Given the description of an element on the screen output the (x, y) to click on. 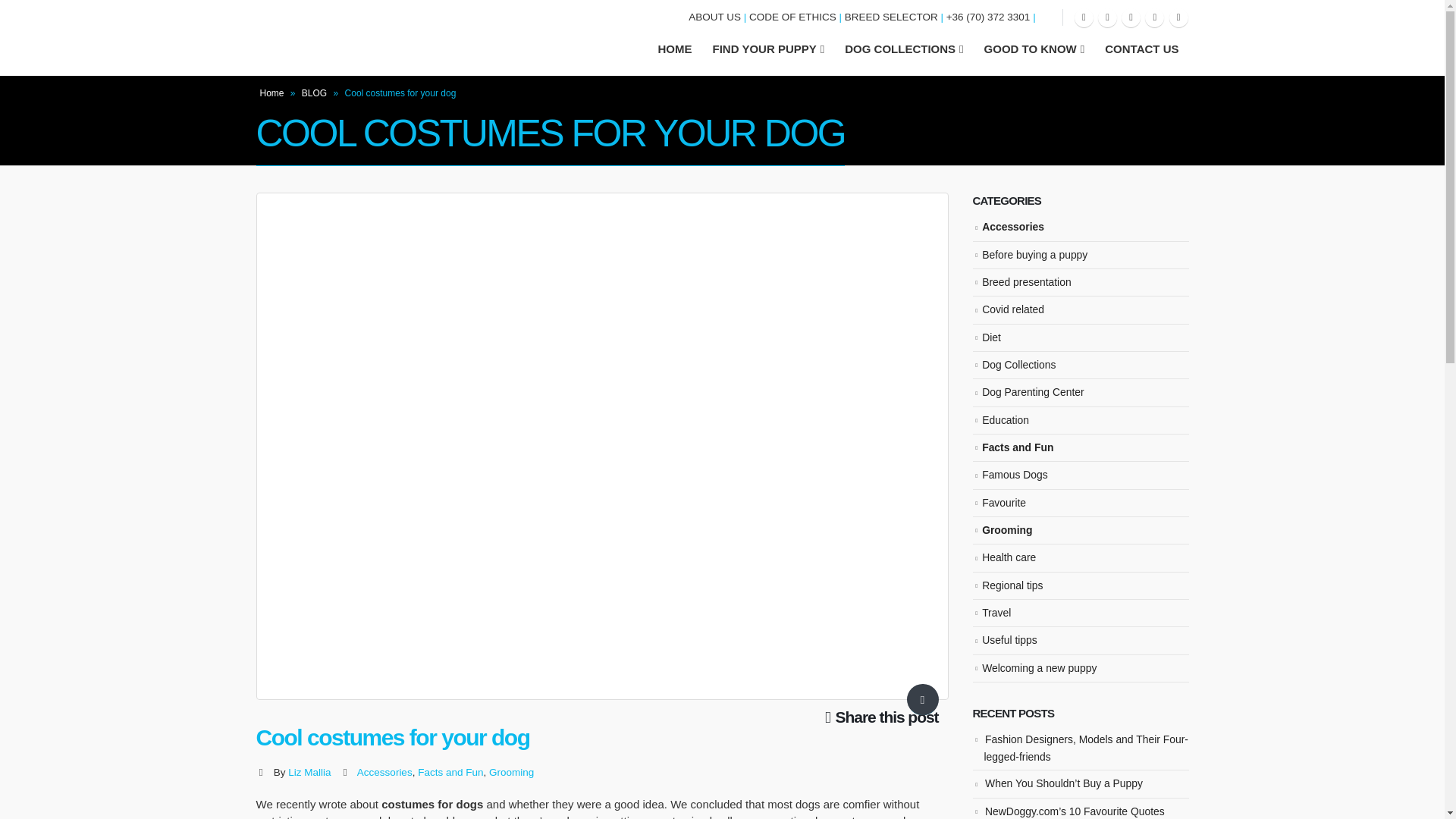
Facebook (1083, 16)
FIND YOUR PUPPY (767, 48)
CODE OF ETHICS (792, 16)
ABOUT US (714, 16)
BREED SELECTOR (890, 16)
HOME (674, 48)
Pinterest (1106, 16)
Youtube (1130, 16)
GOOD TO KNOW (1034, 48)
Instagram (1153, 16)
